Given the description of an element on the screen output the (x, y) to click on. 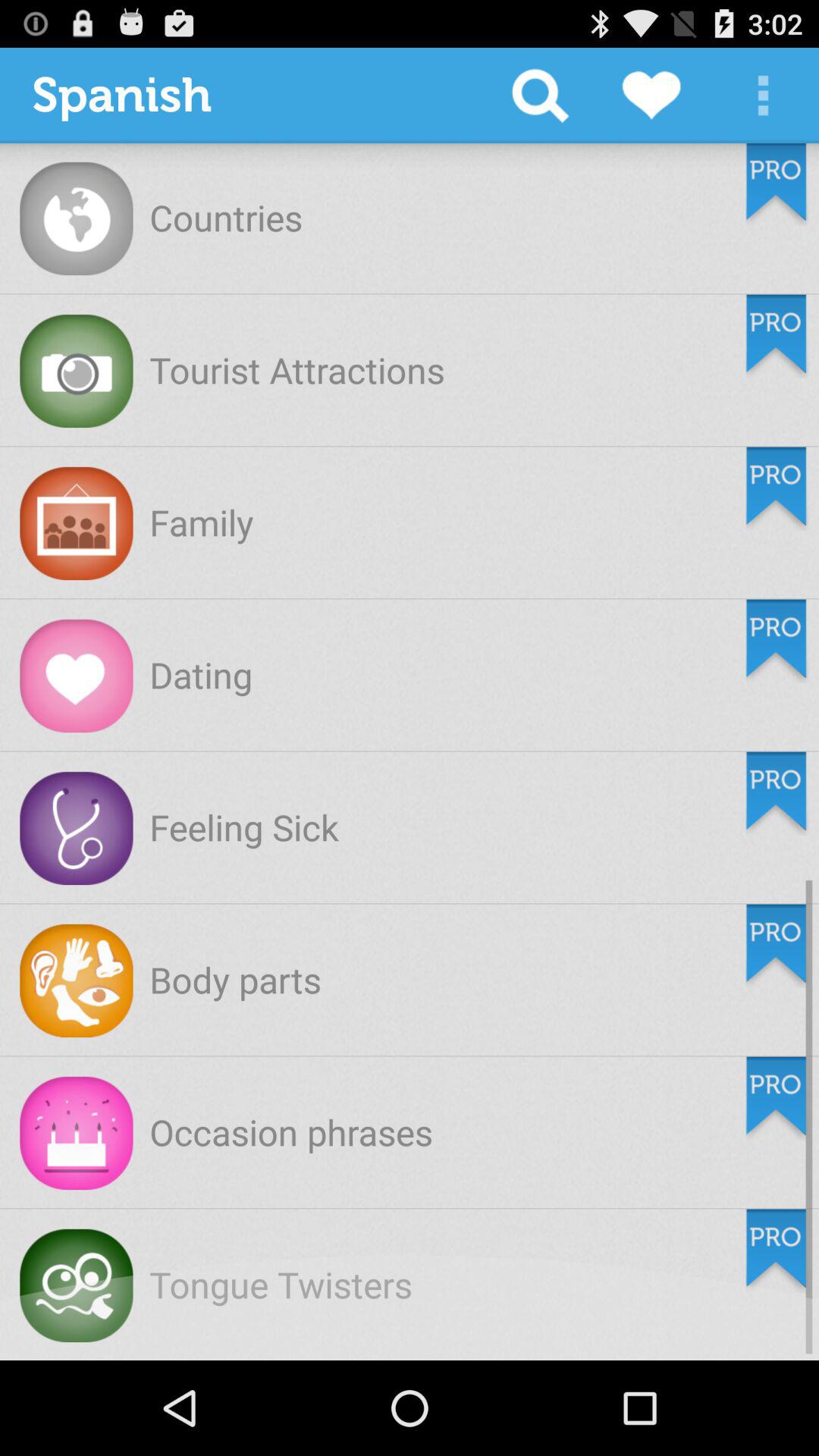
click icon next to the spanish icon (540, 95)
